Given the description of an element on the screen output the (x, y) to click on. 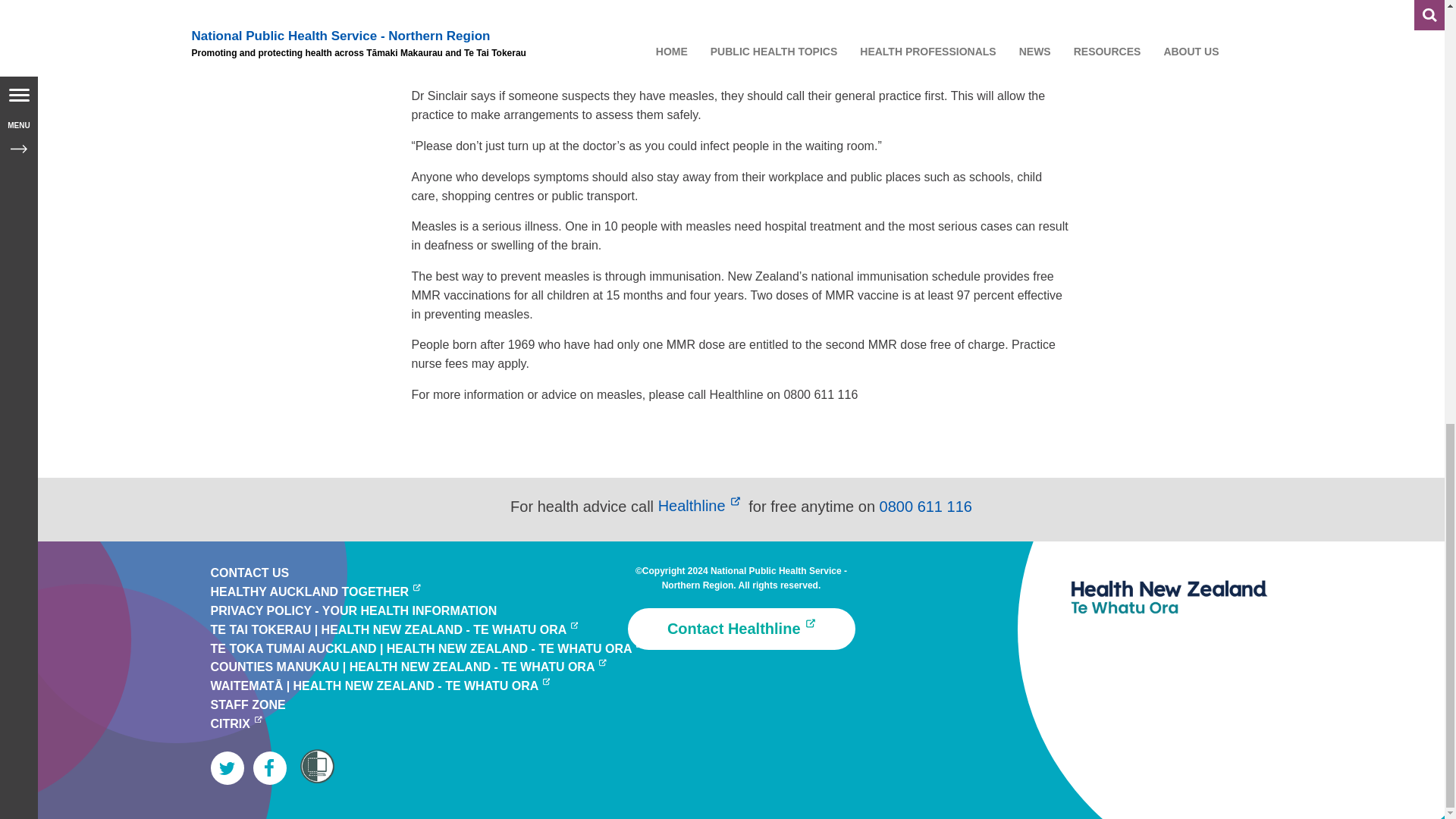
Healthline (701, 505)
